Given the description of an element on the screen output the (x, y) to click on. 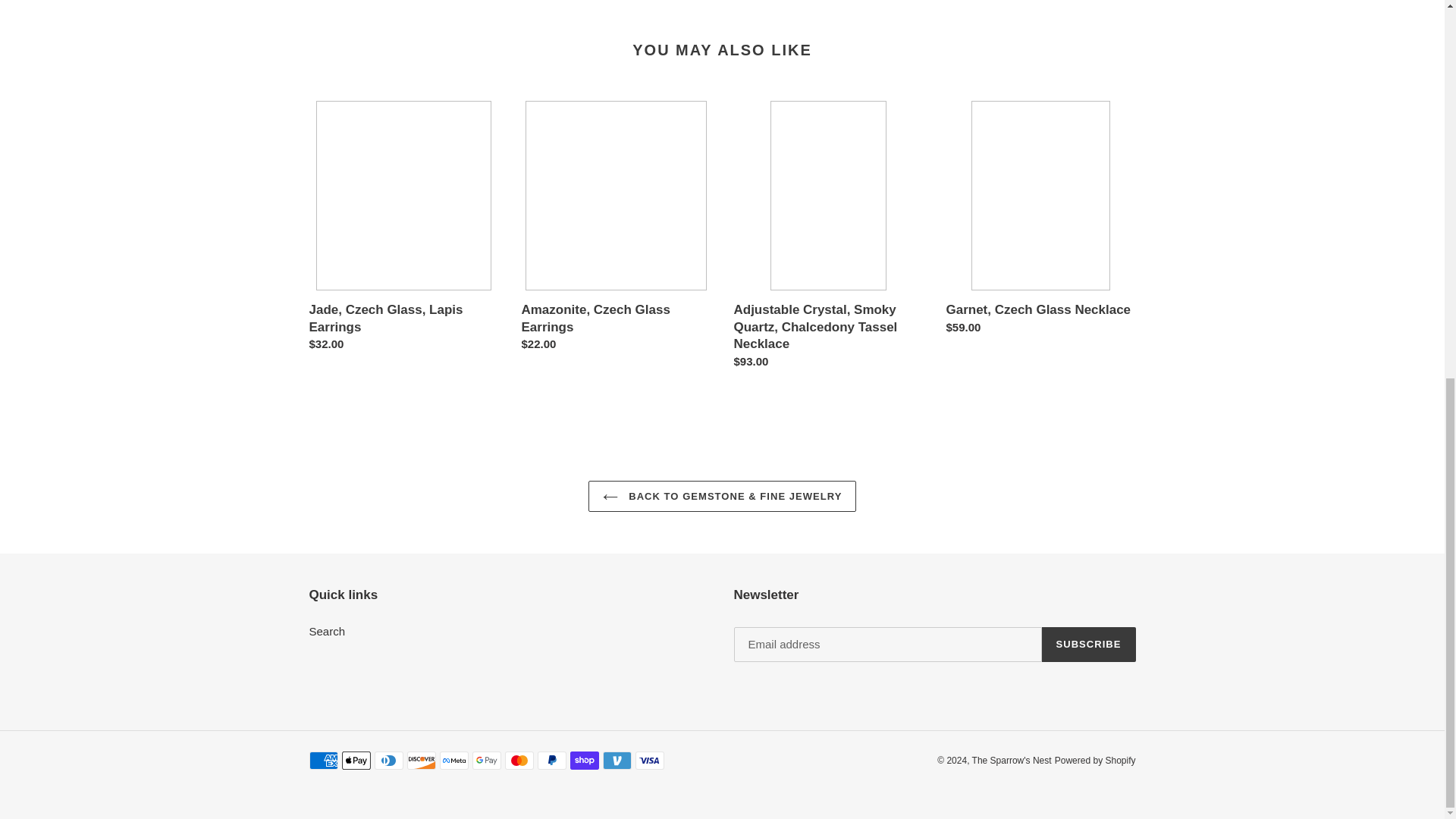
SUBSCRIBE (1088, 644)
Search (327, 631)
The Sparrow's Nest (1011, 760)
Powered by Shopify (1094, 760)
